Given the description of an element on the screen output the (x, y) to click on. 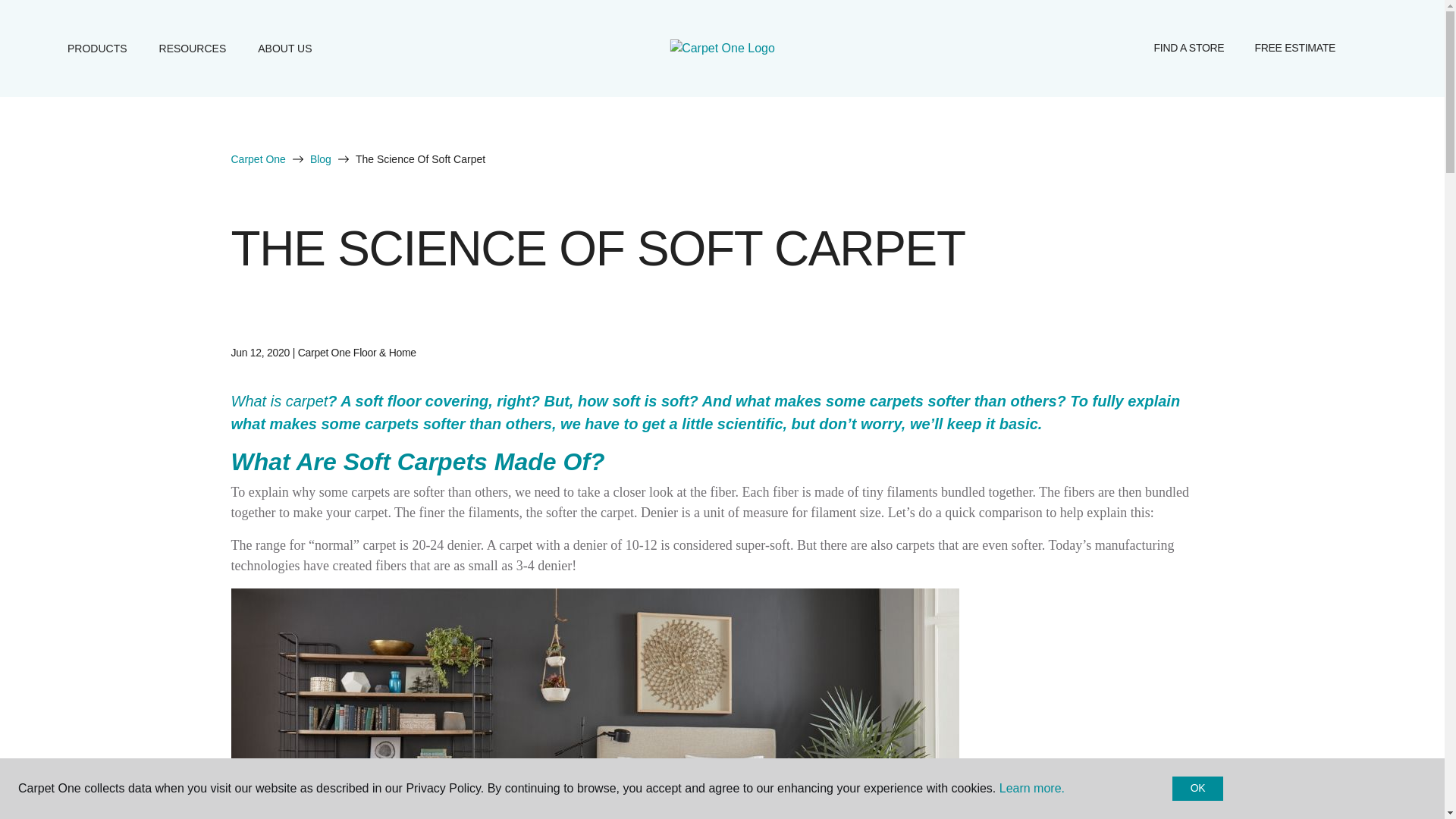
RESOURCES (193, 48)
FIND A STORE (1188, 48)
PRODUCTS (97, 48)
FREE ESTIMATE (1294, 48)
ABOUT US (284, 48)
